Given the description of an element on the screen output the (x, y) to click on. 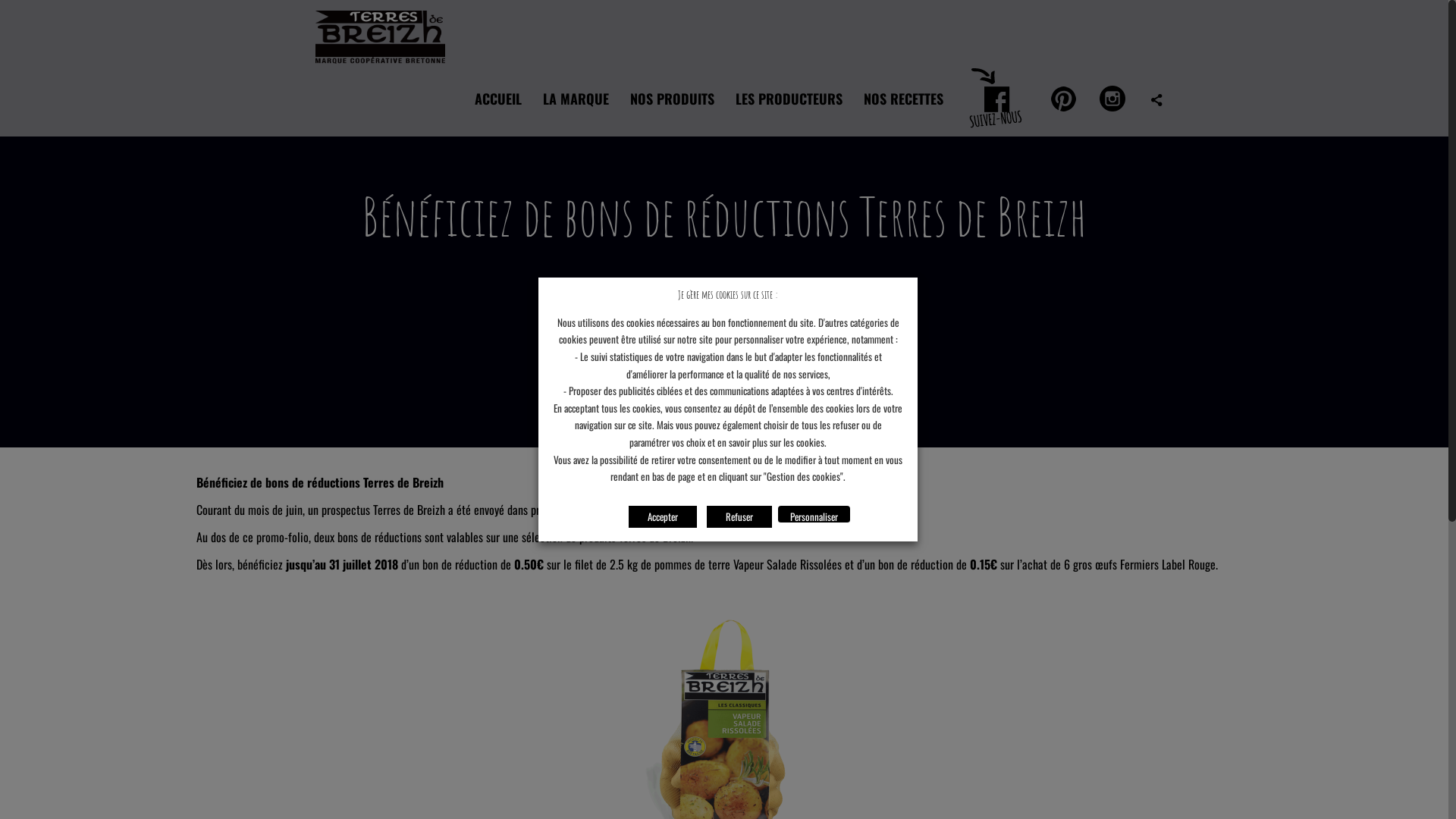
Personnaliser Element type: text (814, 514)
NOS PRODUITS Element type: text (671, 98)
NOS RECETTES Element type: text (903, 98)
ACCUEIL Element type: text (498, 98)
LES PRODUCTEURS Element type: text (788, 98)
Terres de Breizh Element type: hover (380, 30)
Accepter Element type: text (662, 516)
LA MARQUE Element type: text (575, 98)
Refuser Element type: text (738, 516)
